Given the description of an element on the screen output the (x, y) to click on. 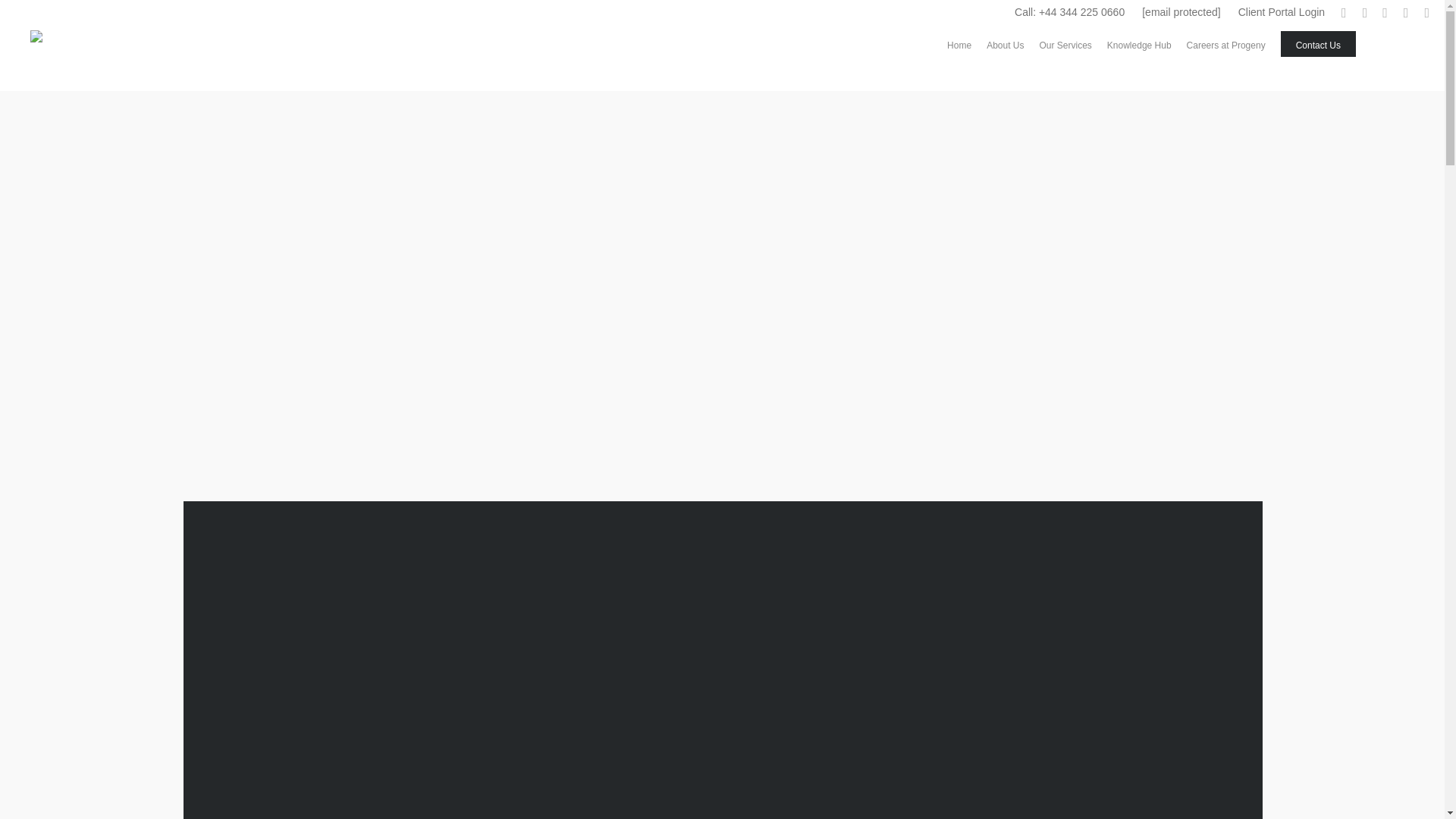
Client Portal Login (1281, 12)
Click here to log in to the Progeny Client Portal (1281, 12)
Email Progeny now (1181, 12)
Call Progeny now (1069, 12)
